Given the description of an element on the screen output the (x, y) to click on. 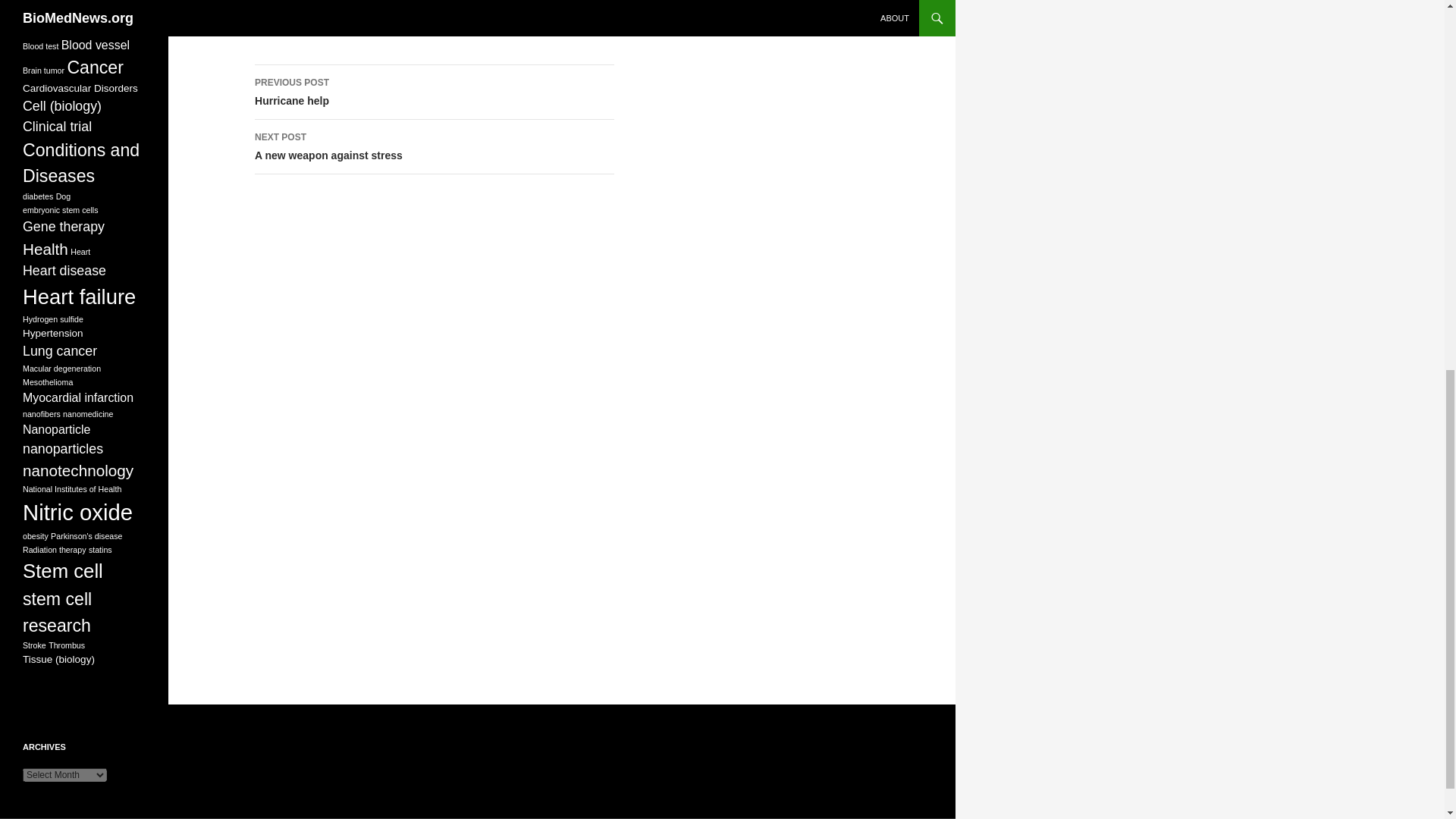
Biotechnology (79, 5)
Blood pressure (72, 24)
Blood test (434, 92)
Cardiovascular Disorders (434, 146)
Brain tumor (40, 45)
Cancer (80, 88)
Blood vessel (43, 70)
